Given the description of an element on the screen output the (x, y) to click on. 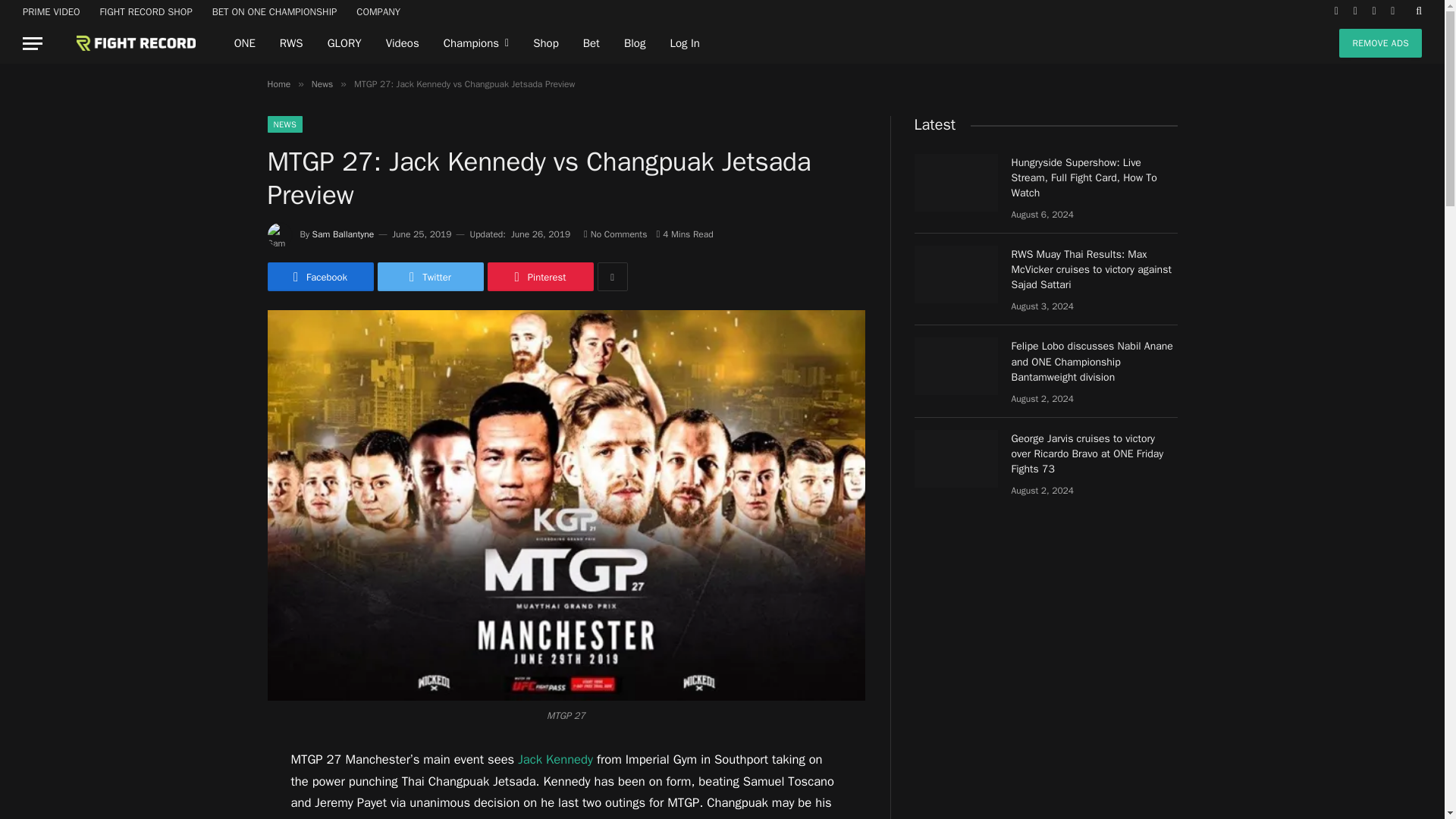
News (322, 83)
PRIME VIDEO (51, 11)
Pinterest (539, 276)
RWS (291, 42)
Champions (475, 42)
Fight Record (124, 42)
Facebook (319, 276)
Shop (545, 42)
Bet (590, 42)
Log In (684, 42)
